Given the description of an element on the screen output the (x, y) to click on. 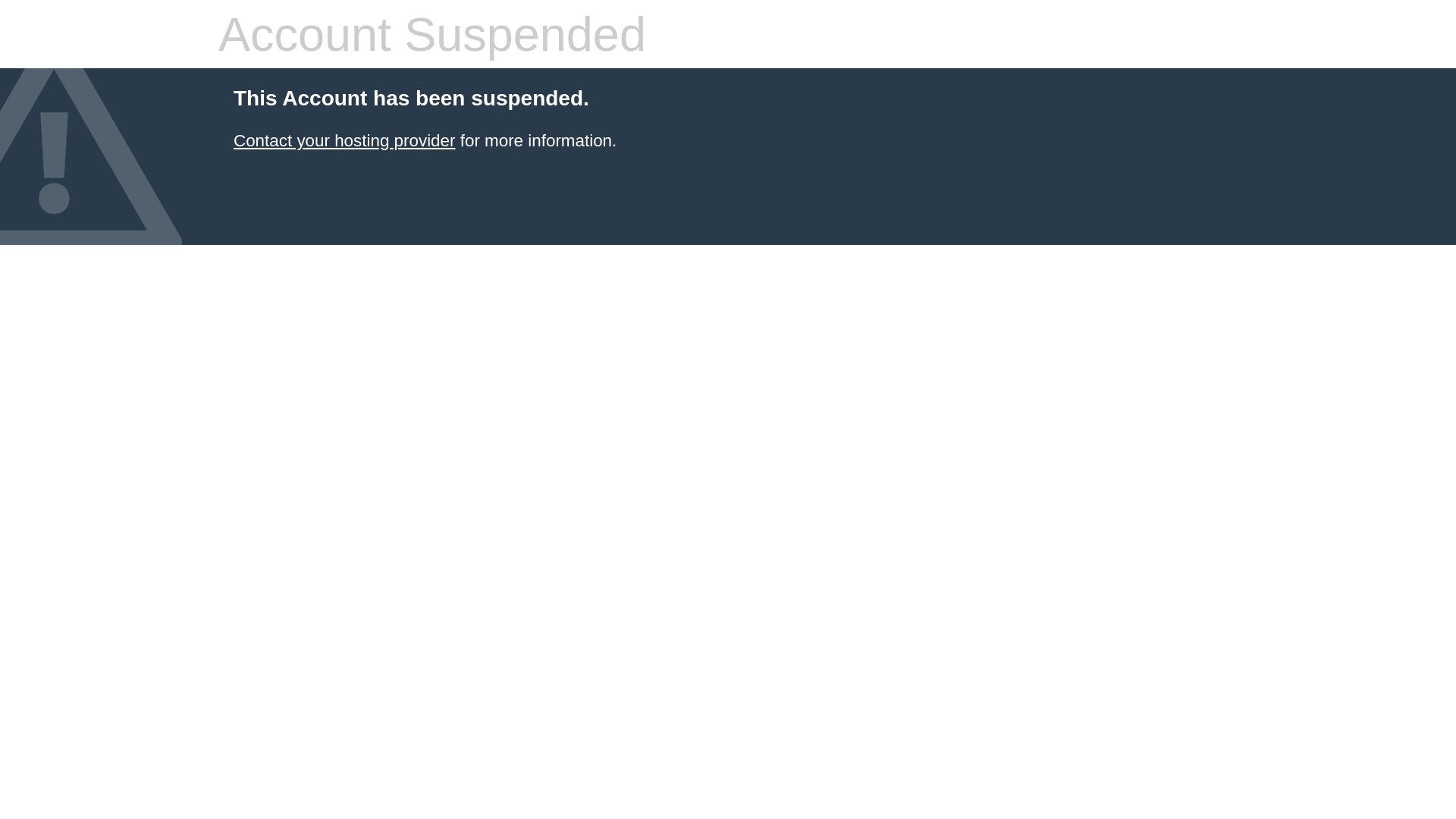
Contact your hosting provider Element type: text (344, 140)
